Given the description of an element on the screen output the (x, y) to click on. 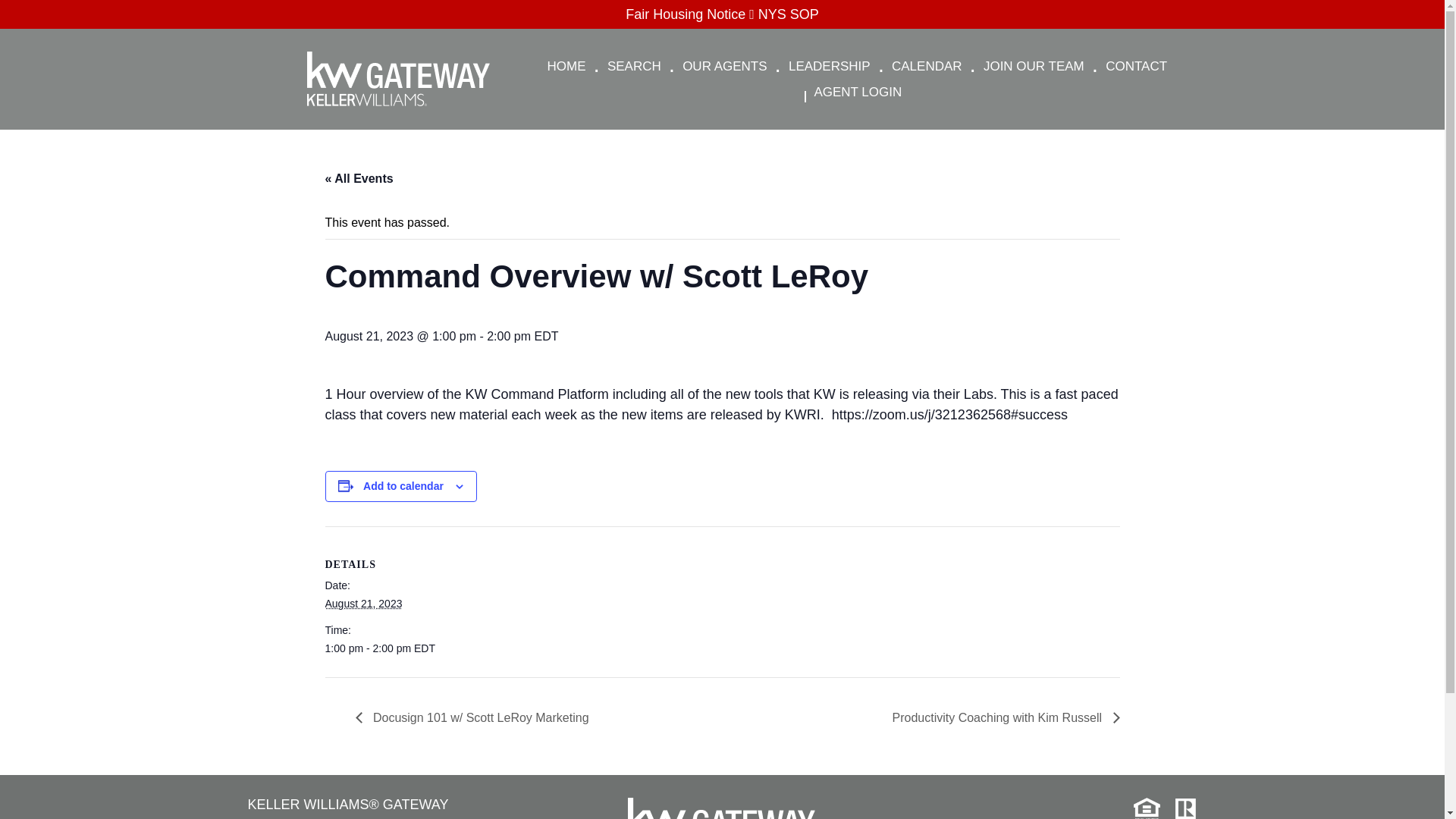
CONTACT (1135, 66)
HOME (567, 66)
SEARCH (633, 66)
Productivity Coaching with Kim Russell (1001, 717)
OUR AGENTS (724, 66)
LEADERSHIP (828, 66)
AGENT LOGIN (857, 91)
NYS SOP (788, 14)
JOIN OUR TEAM (1033, 66)
Fair Housing Notice (692, 14)
2023-08-21 (387, 648)
CALENDAR (926, 66)
Add to calendar (403, 485)
2023-08-21 (362, 603)
